Given the description of an element on the screen output the (x, y) to click on. 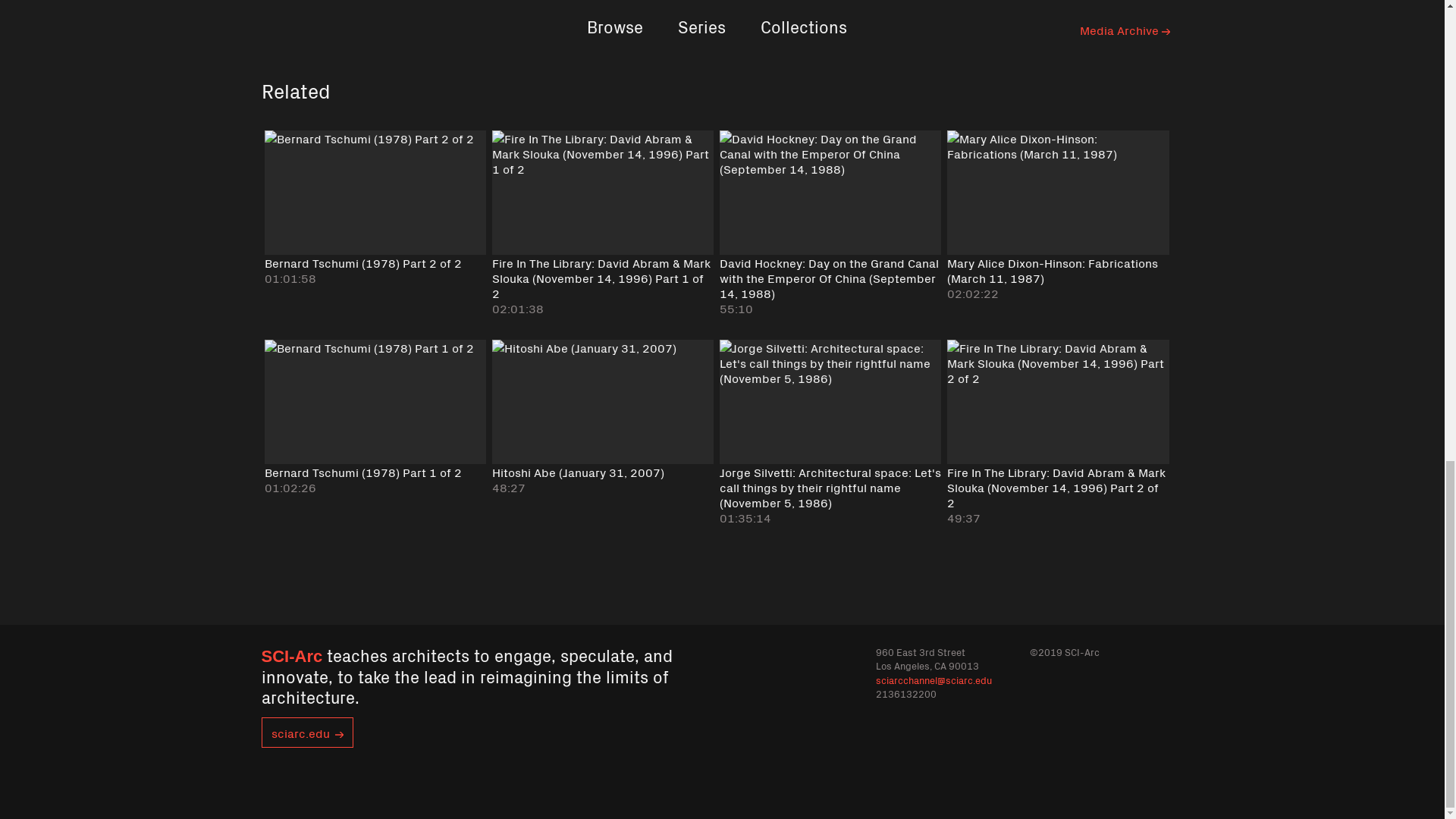
Space (340, 29)
Human figure in art (352, 20)
sciarc.edu (306, 732)
Representation (303, 12)
Renaissance art (305, 1)
Romantic art (394, 1)
Body (300, 29)
